Given the description of an element on the screen output the (x, y) to click on. 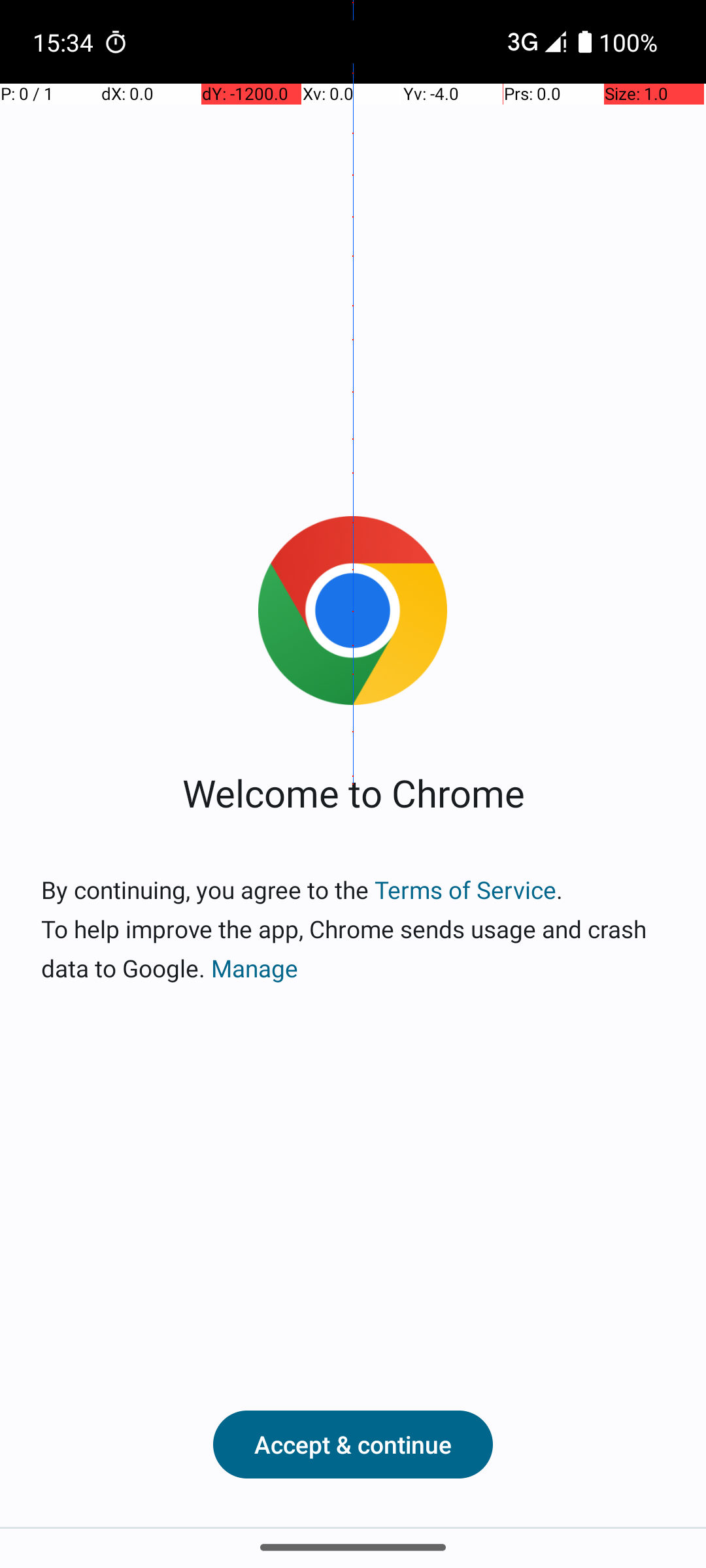
Accept & continue Element type: android.widget.Button (352, 1444)
Welcome to Chrome Element type: android.widget.TextView (352, 792)
By continuing, you agree to the Terms of Service.
To help improve the app, Chrome sends usage and crash data to Google. Manage Element type: android.widget.TextView (352, 928)
